Given the description of an element on the screen output the (x, y) to click on. 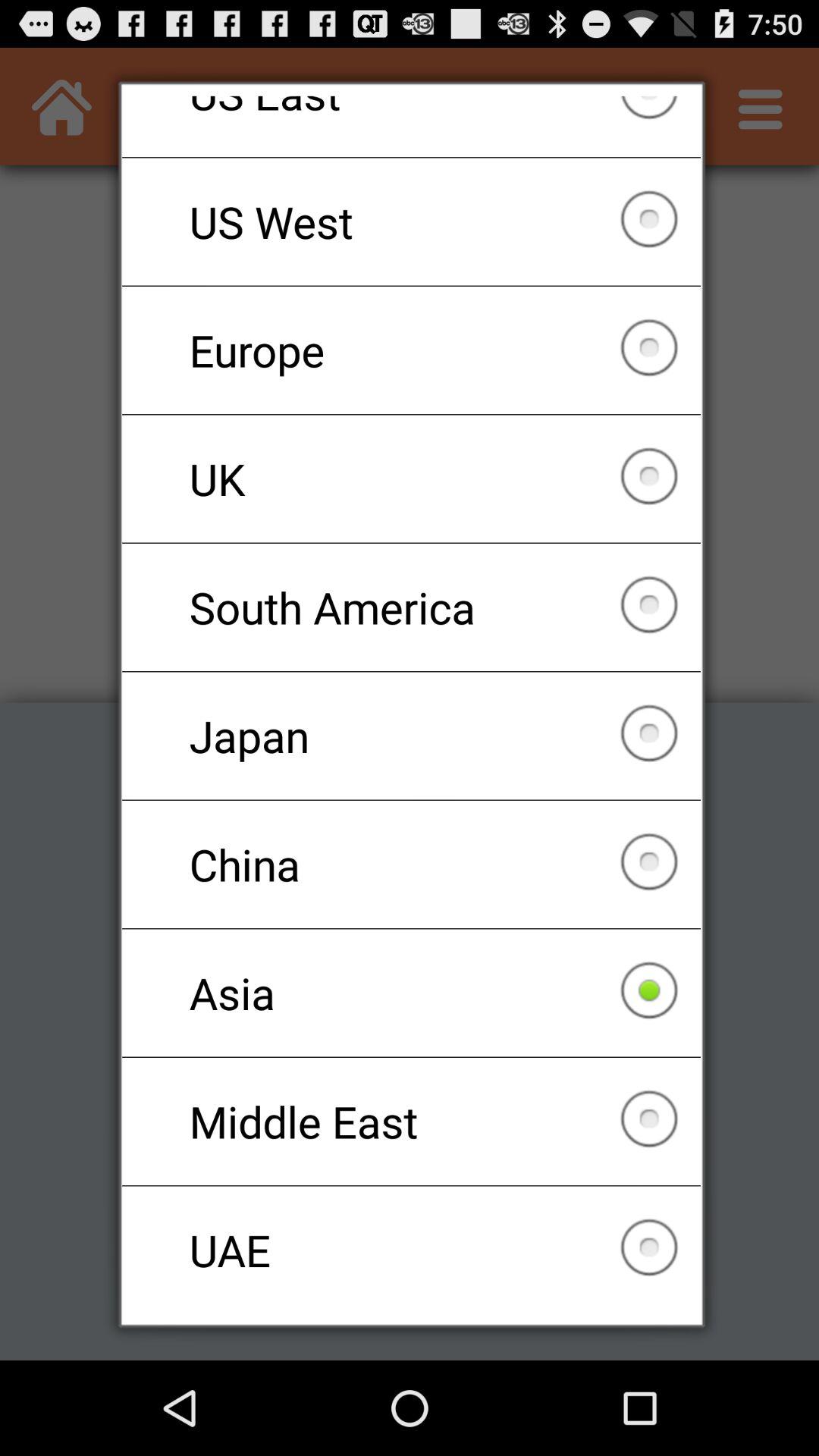
scroll until uae checkbox (411, 1249)
